Given the description of an element on the screen output the (x, y) to click on. 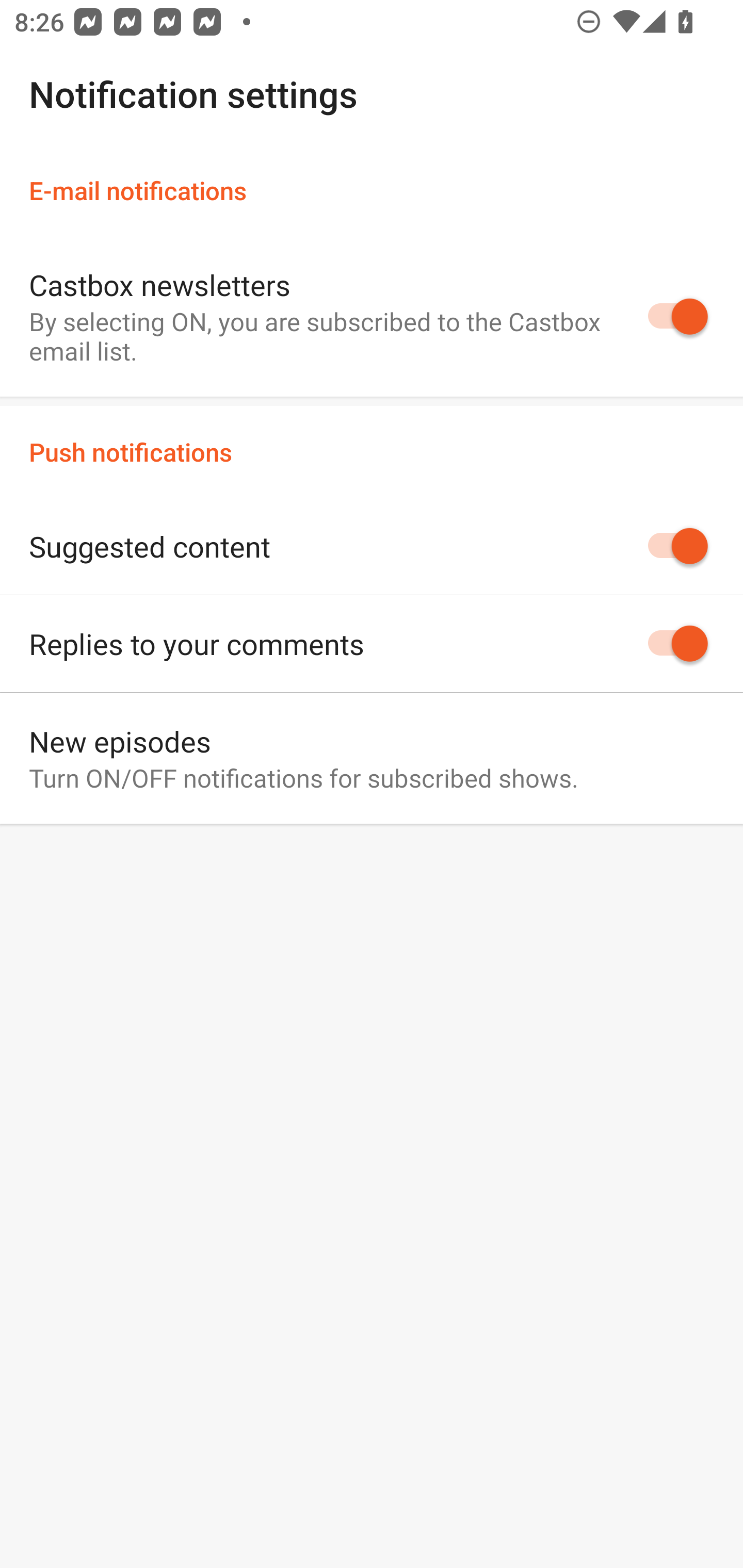
Suggested content (371, 546)
Replies to your comments (371, 644)
